Given the description of an element on the screen output the (x, y) to click on. 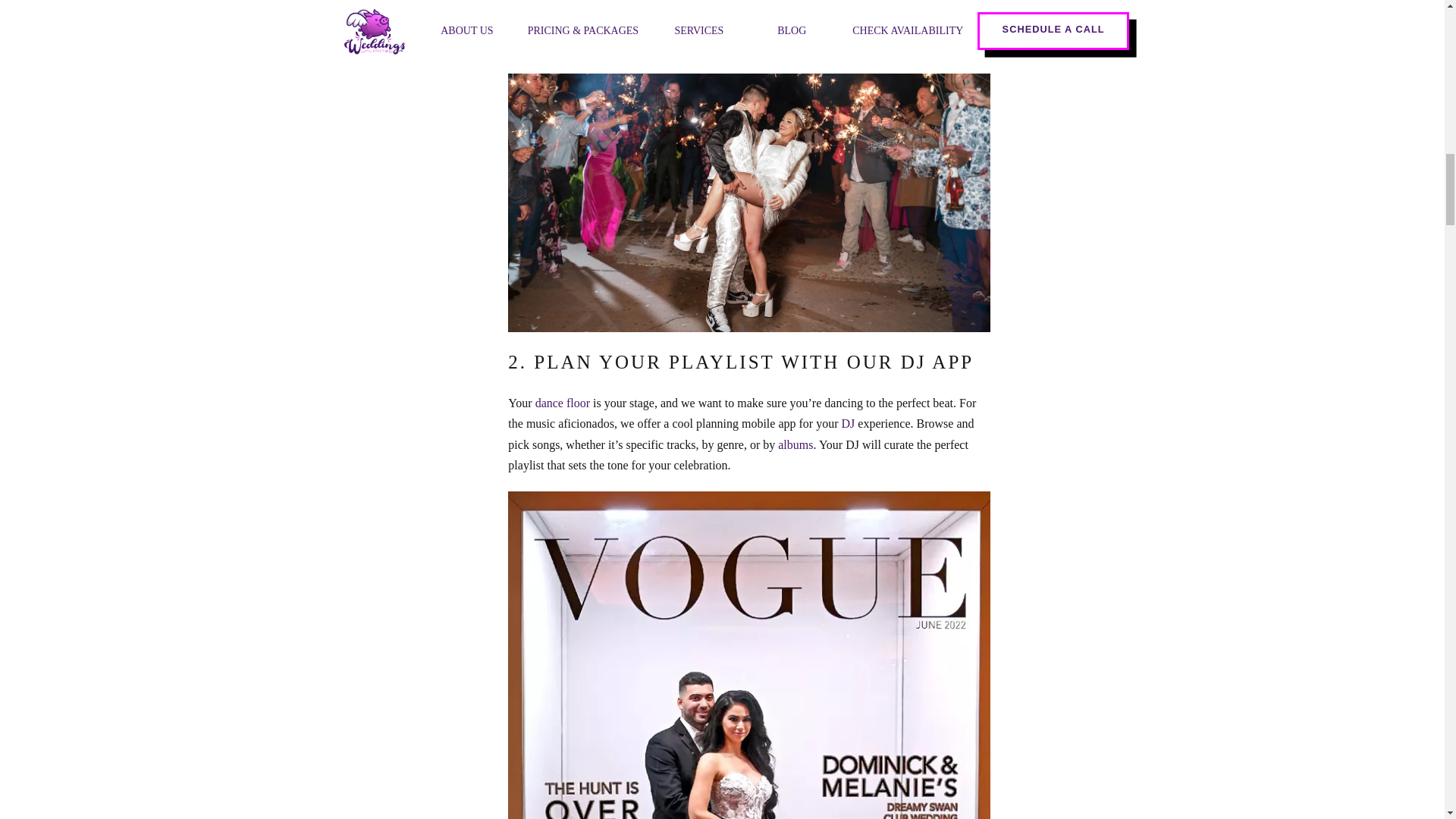
dance floor (562, 402)
DJ (848, 422)
albums (794, 444)
